Given the description of an element on the screen output the (x, y) to click on. 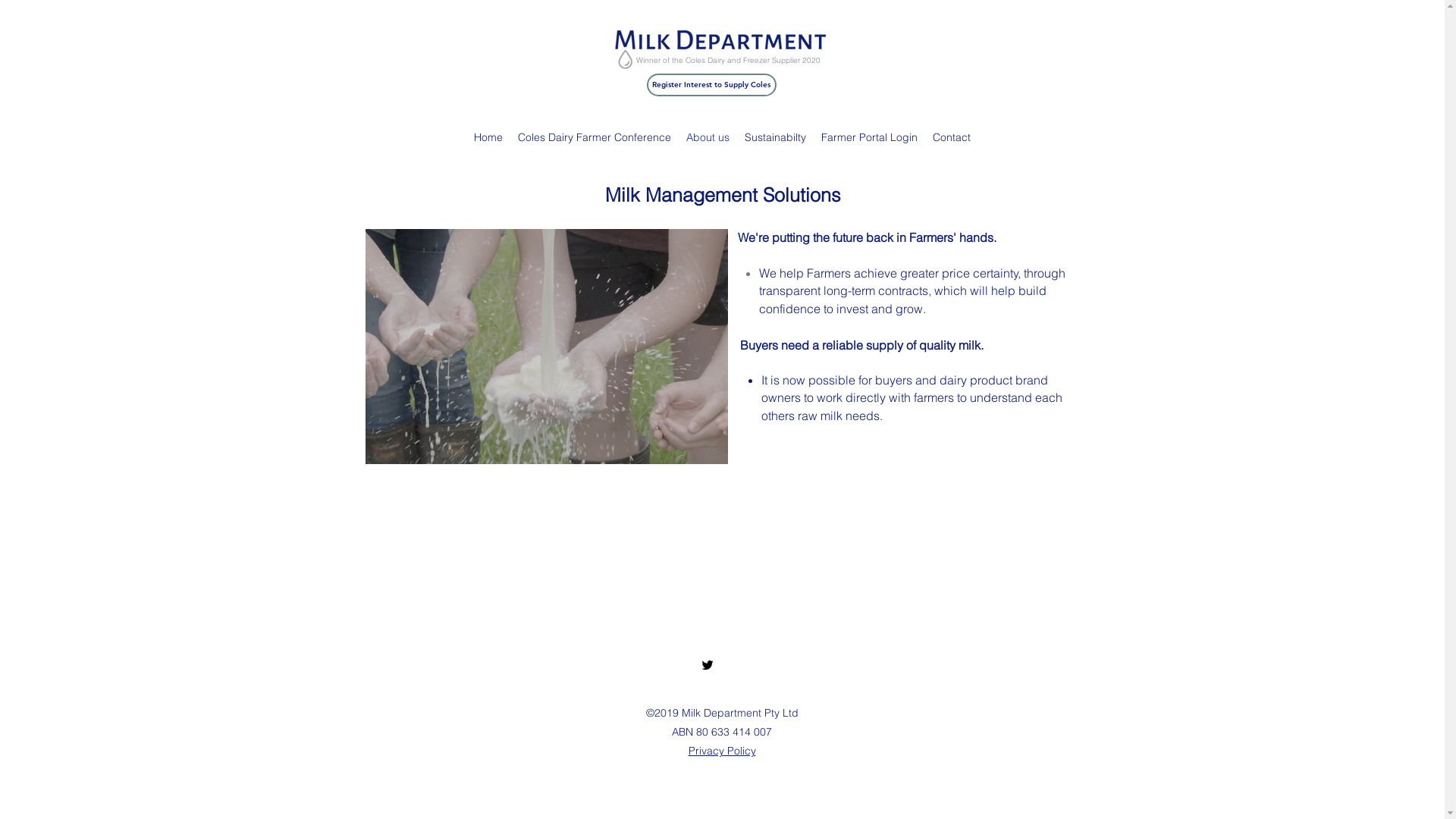
Farmer Portal Login Element type: text (869, 136)
Home Element type: text (488, 136)
About us Element type: text (707, 136)
Contact Element type: text (951, 136)
Sustainabilty Element type: text (775, 136)
Privacy Policy Element type: text (722, 750)
Coles Dairy Farmer Conference Element type: text (594, 136)
Register Interest to Supply Coles Element type: text (710, 84)
